Given the description of an element on the screen output the (x, y) to click on. 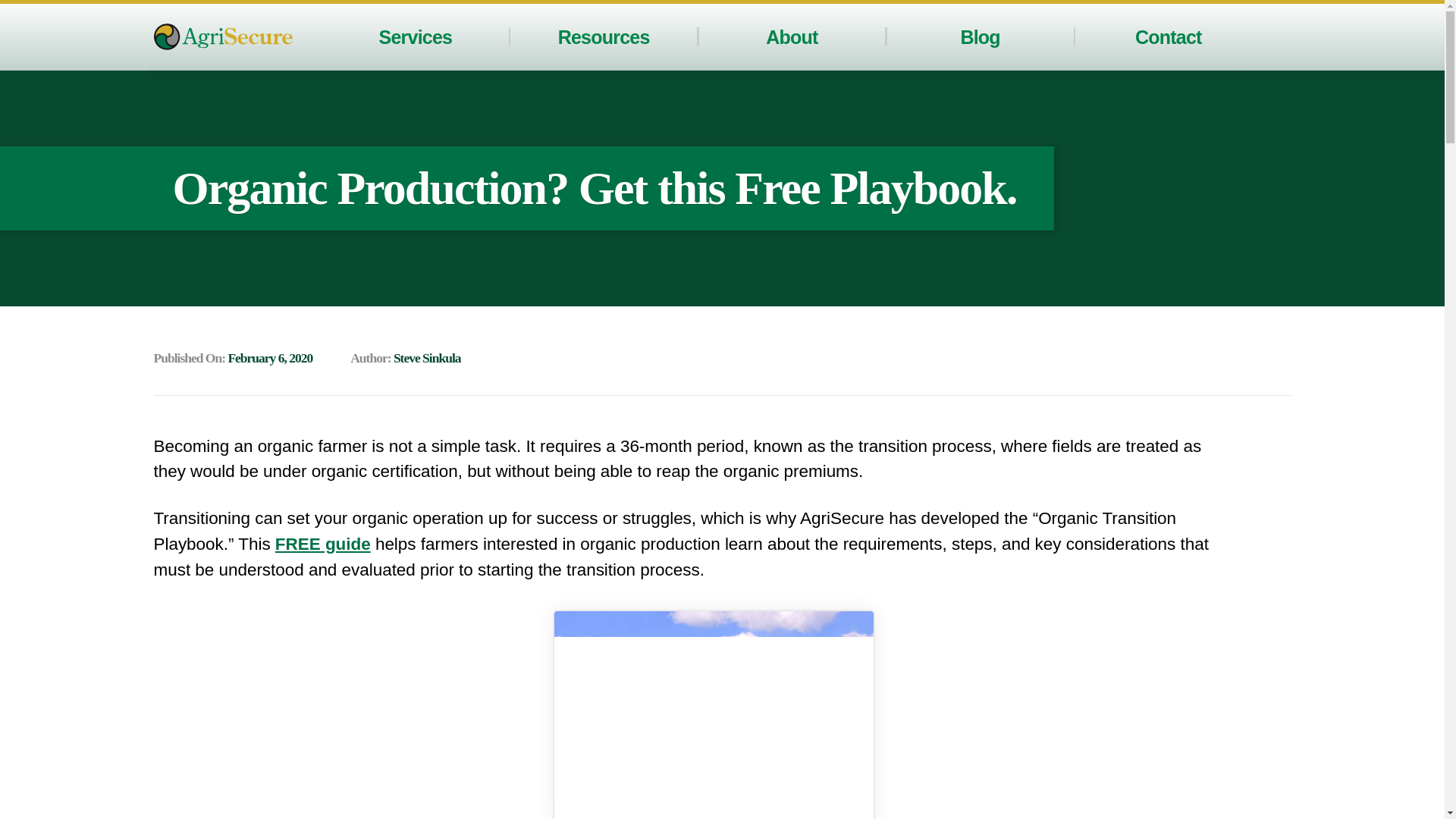
Contact (1168, 37)
FREE guide (323, 544)
AgriSecure (222, 36)
Resources (603, 37)
Services (415, 37)
Services (415, 37)
Contact (1168, 37)
Blog (978, 37)
Resources (603, 37)
About (790, 37)
About (790, 37)
Blog (978, 37)
